Given the description of an element on the screen output the (x, y) to click on. 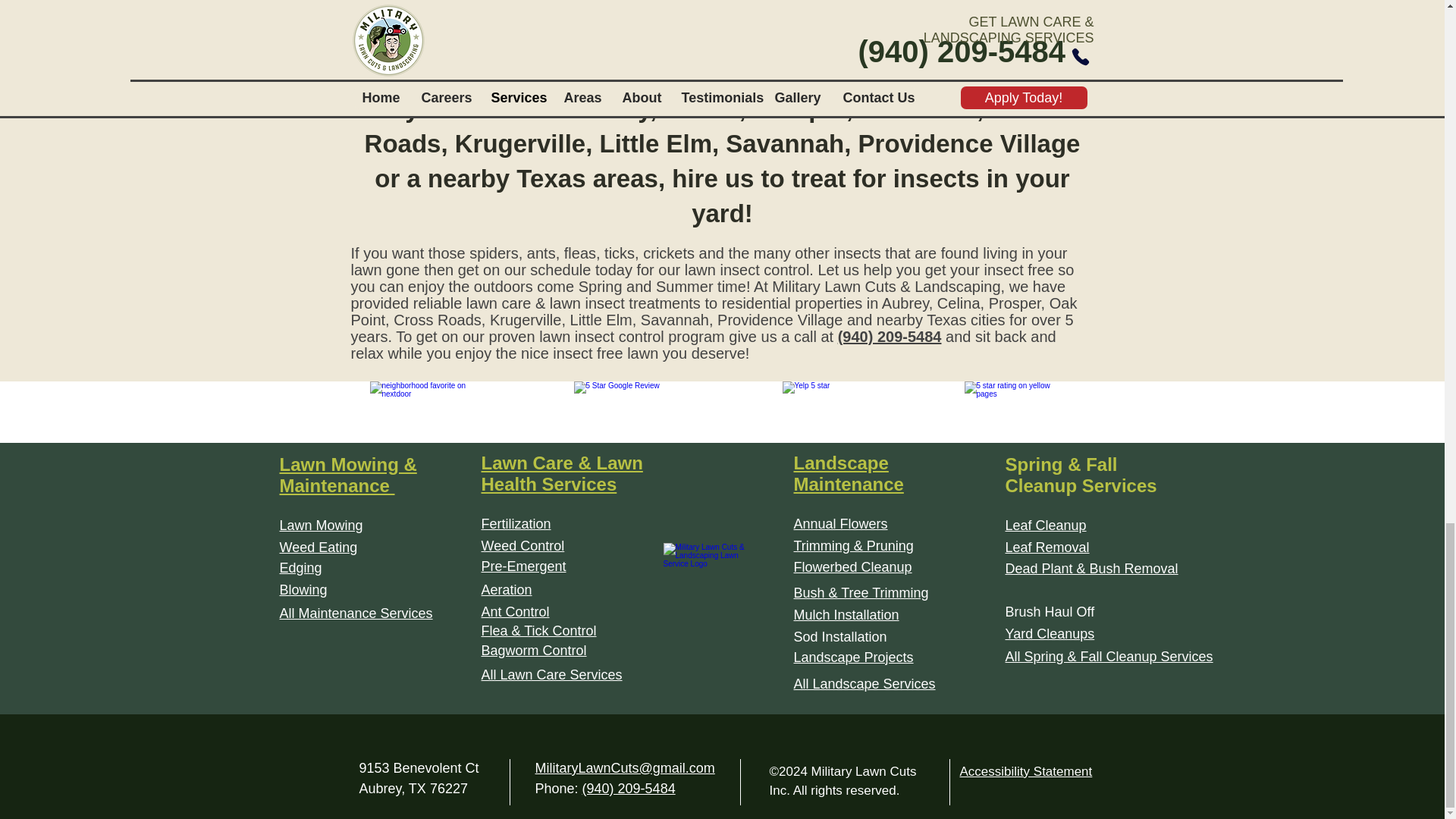
Pre-Emergent (523, 566)
All Maintenance Services (355, 613)
Weed Eating (317, 547)
Ant Control (514, 611)
Weed Control (522, 545)
Edging (300, 567)
Aeration (505, 589)
Fertilization (515, 523)
Blowing (302, 589)
Lawn Mowing (320, 525)
